Given the description of an element on the screen output the (x, y) to click on. 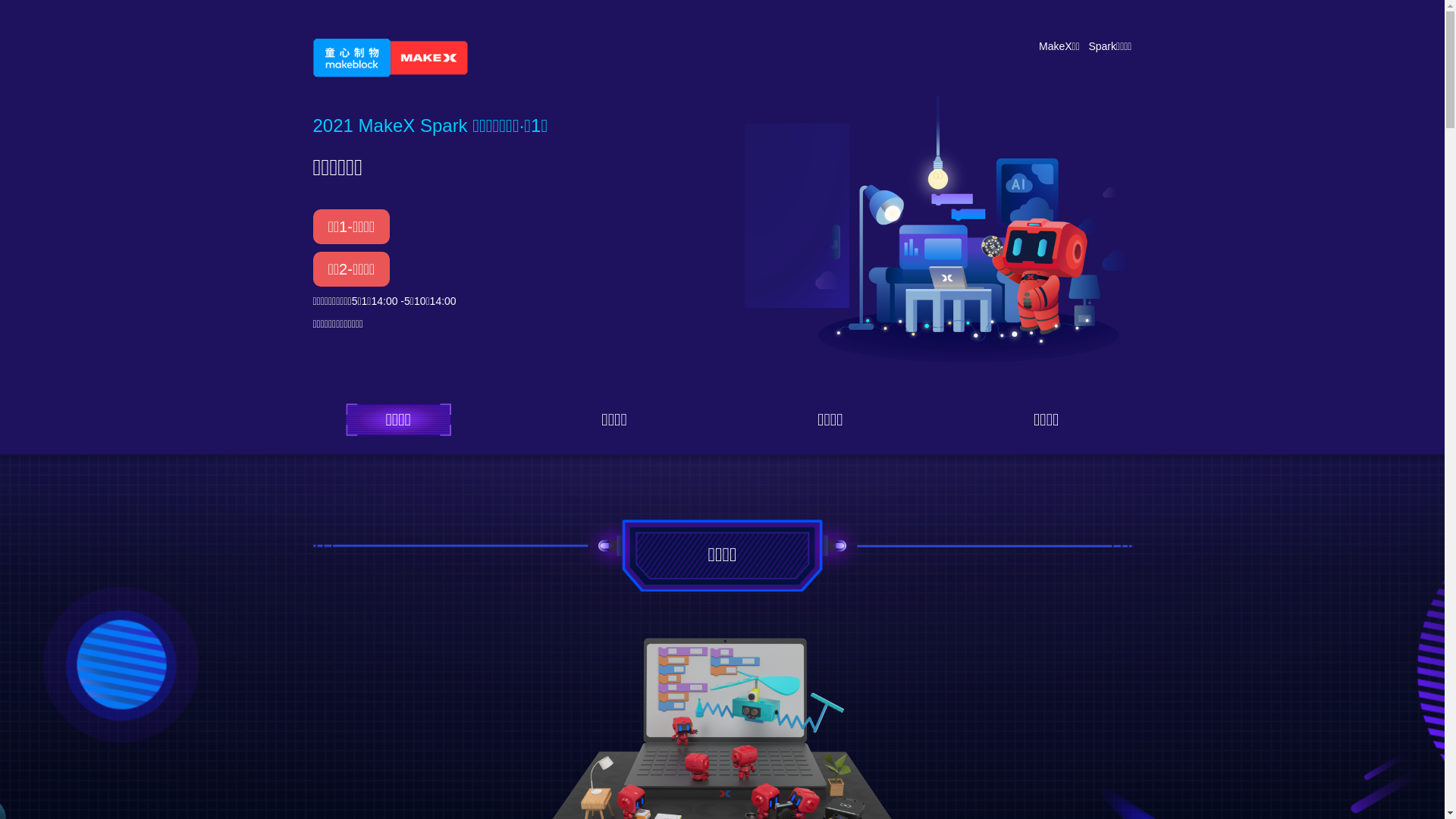
logo Element type: hover (389, 57)
